Given the description of an element on the screen output the (x, y) to click on. 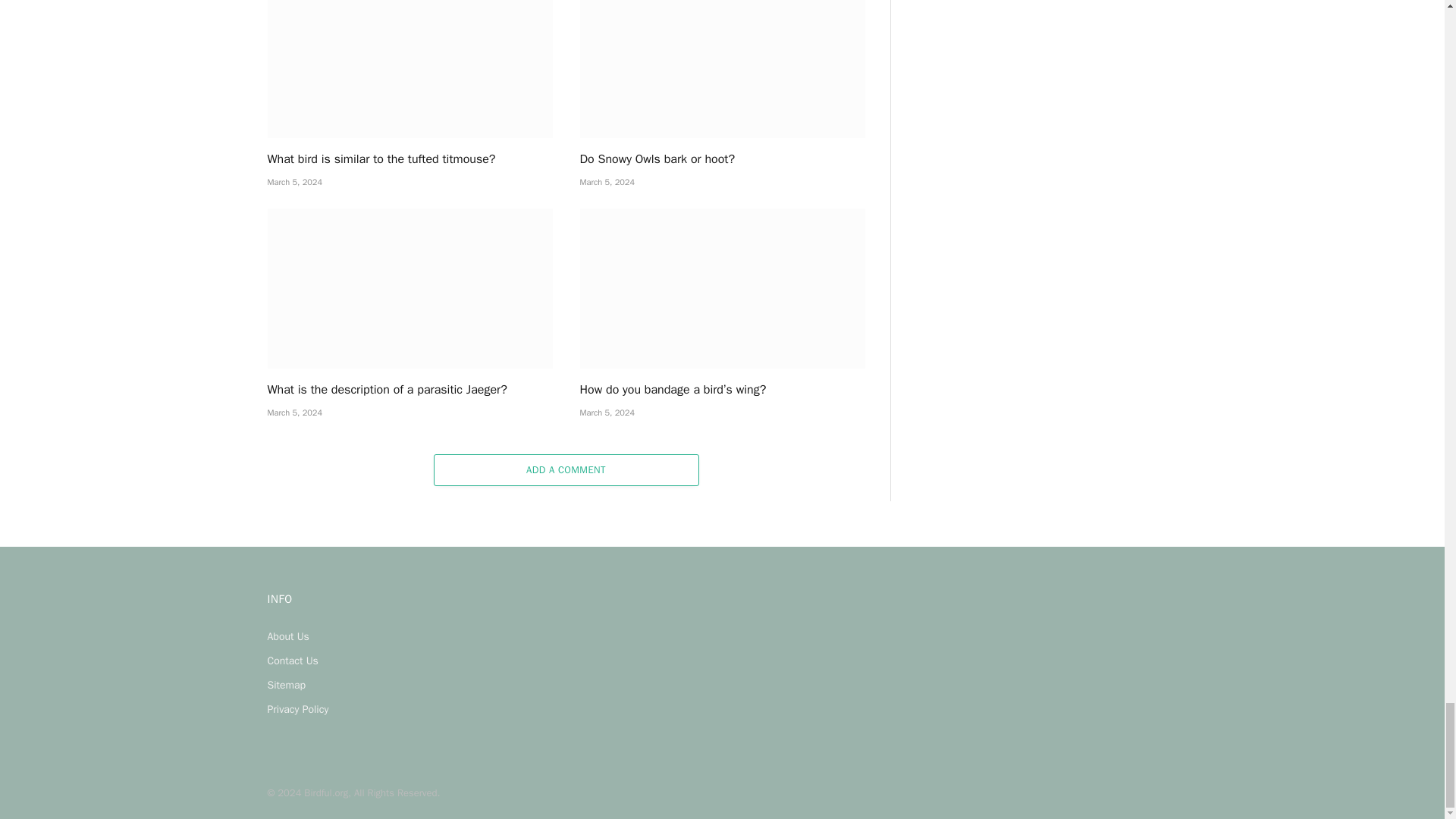
What bird is similar to the tufted titmouse? (408, 69)
What is the description of a parasitic Jaeger? (408, 288)
What is the description of a parasitic Jaeger? (408, 389)
ADD A COMMENT (565, 470)
What bird is similar to the tufted titmouse? (408, 158)
Do Snowy Owls bark or hoot? (721, 69)
Do Snowy Owls bark or hoot? (721, 158)
About Us (287, 635)
